Given the description of an element on the screen output the (x, y) to click on. 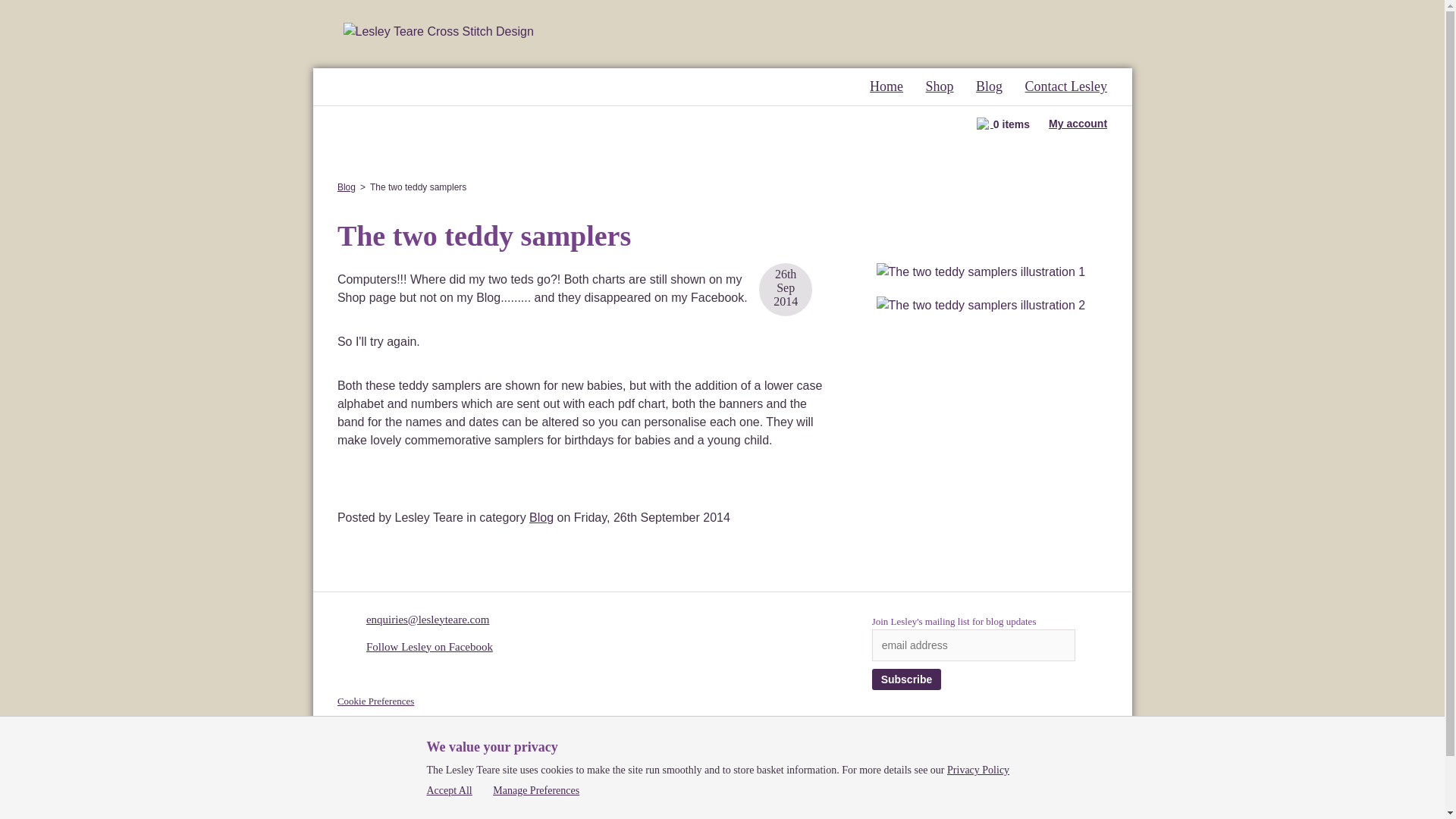
Contact Lesley (1065, 86)
Privacy policy (365, 755)
My account (1077, 123)
0 items (1002, 123)
Follow Lesley on Facebook (429, 646)
Blog (541, 517)
Cookie Preferences (375, 700)
Subscribe (907, 679)
Copyright (357, 718)
Home (885, 86)
